Given the description of an element on the screen output the (x, y) to click on. 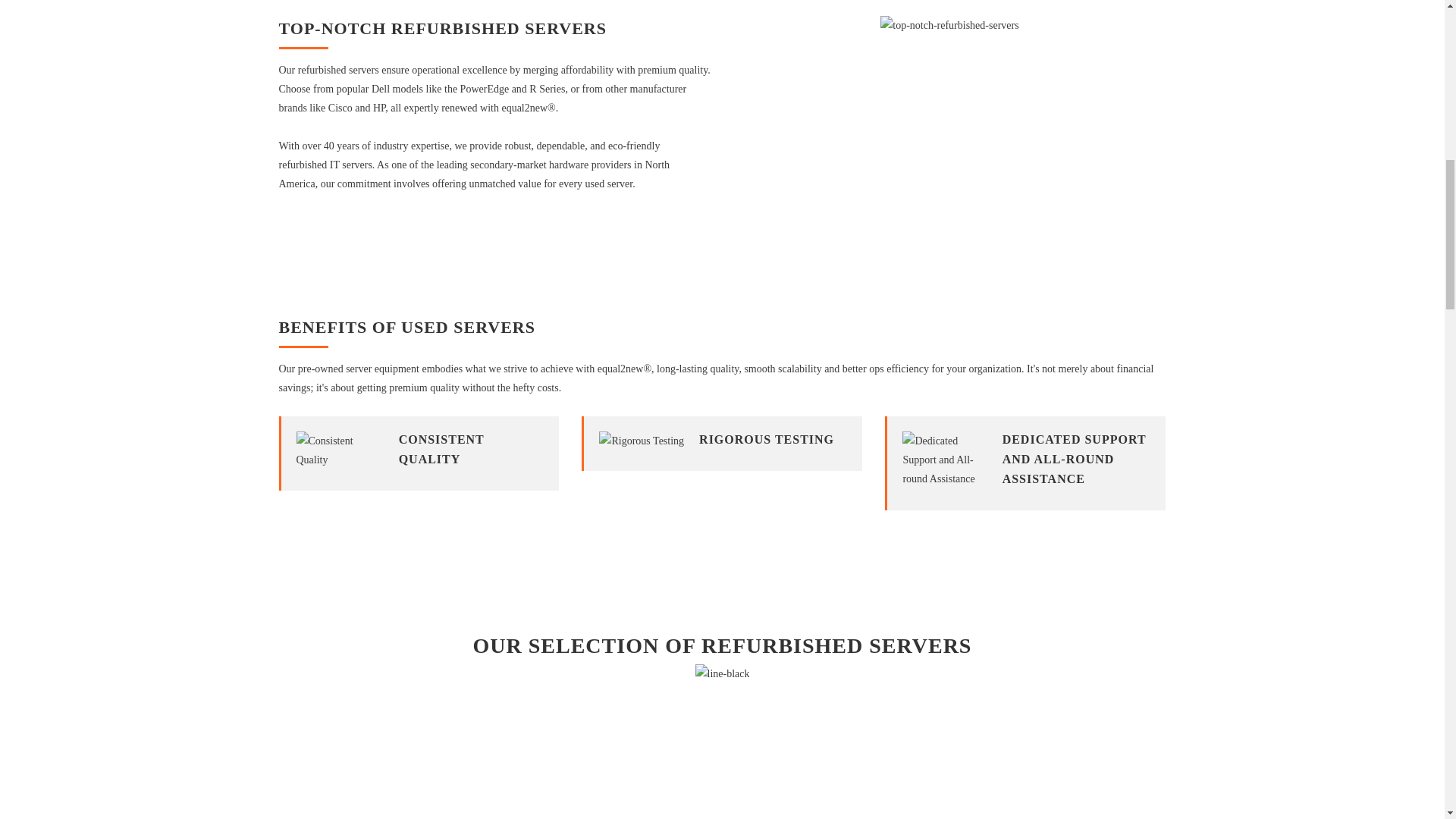
top-notch-refurbished-servers (948, 25)
